Given the description of an element on the screen output the (x, y) to click on. 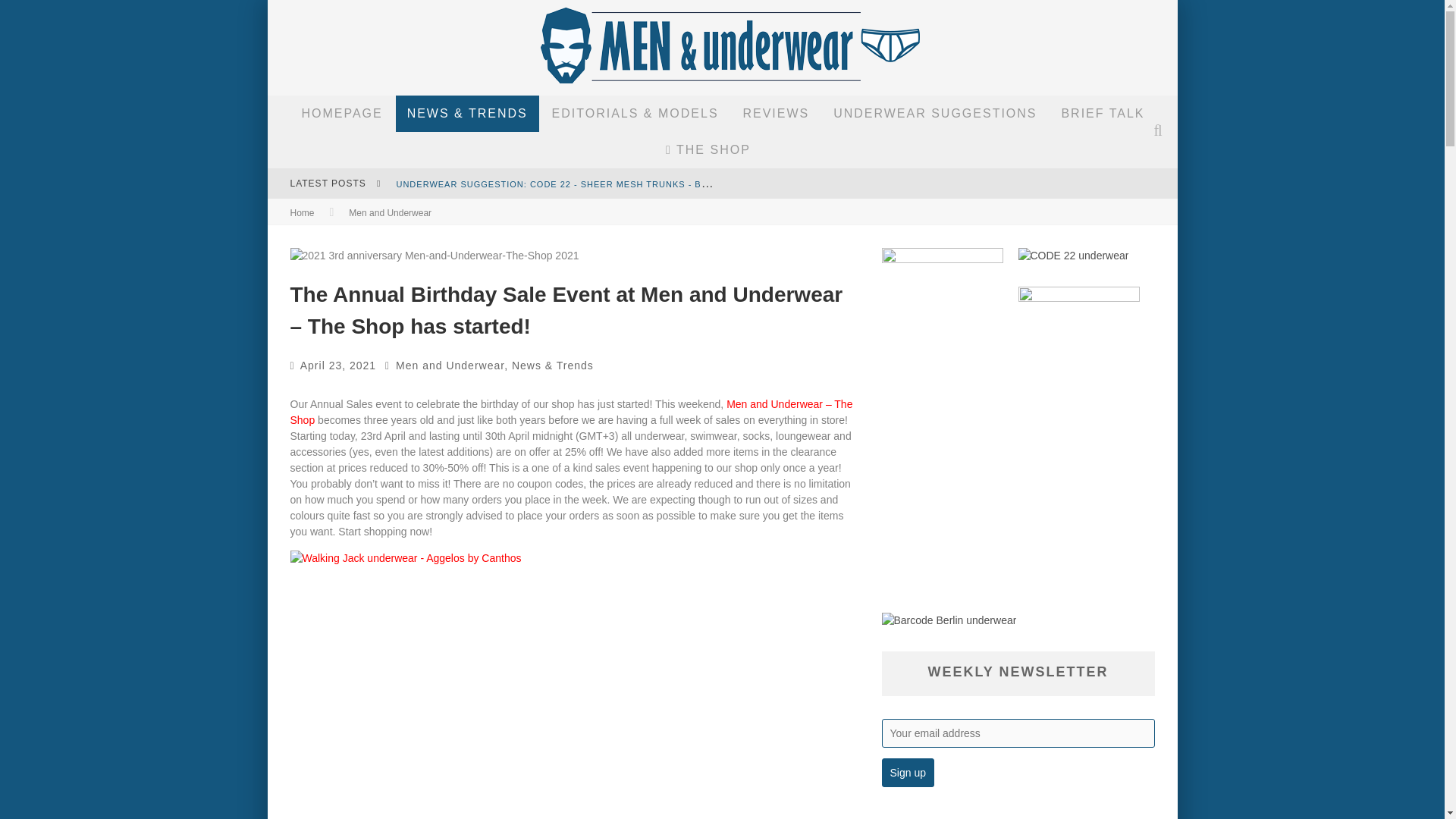
View all posts in Men and Underwear (389, 213)
Sign up (906, 772)
Underwear Suggestion: CODE 22 - Sheer Mesh Trunks - Black (560, 182)
HOMEPAGE (341, 113)
